Given the description of an element on the screen output the (x, y) to click on. 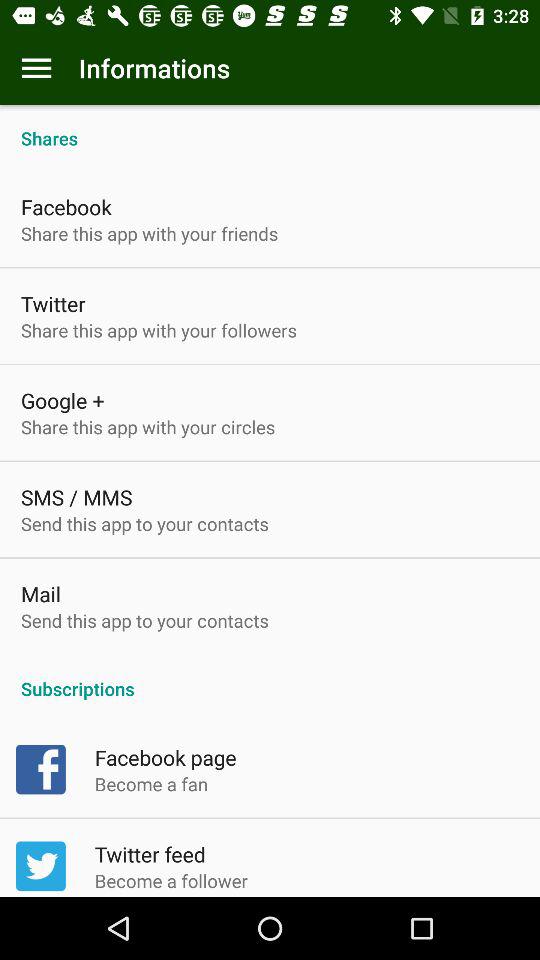
turn on subscriptions (270, 678)
